Given the description of an element on the screen output the (x, y) to click on. 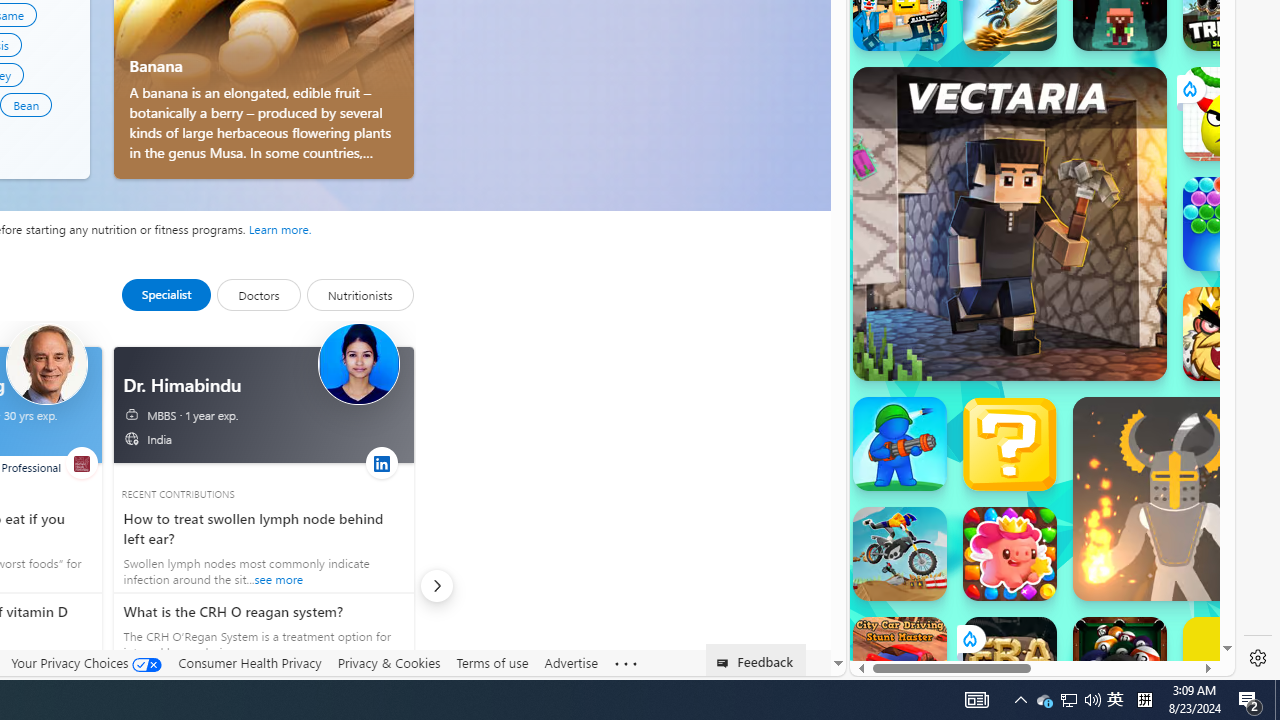
Vectaria.io (1009, 223)
Bean (26, 104)
Hills of Steel (943, 300)
Era: Evolution (1009, 664)
Crazy Cars (1217, 290)
Crazy Bikes (899, 553)
War Master (899, 443)
Mystery Tile (1009, 443)
Class: vecOut (131, 438)
Combat Reloaded (1092, 300)
8 Ball Pool With Buddies (1119, 664)
